Given the description of an element on the screen output the (x, y) to click on. 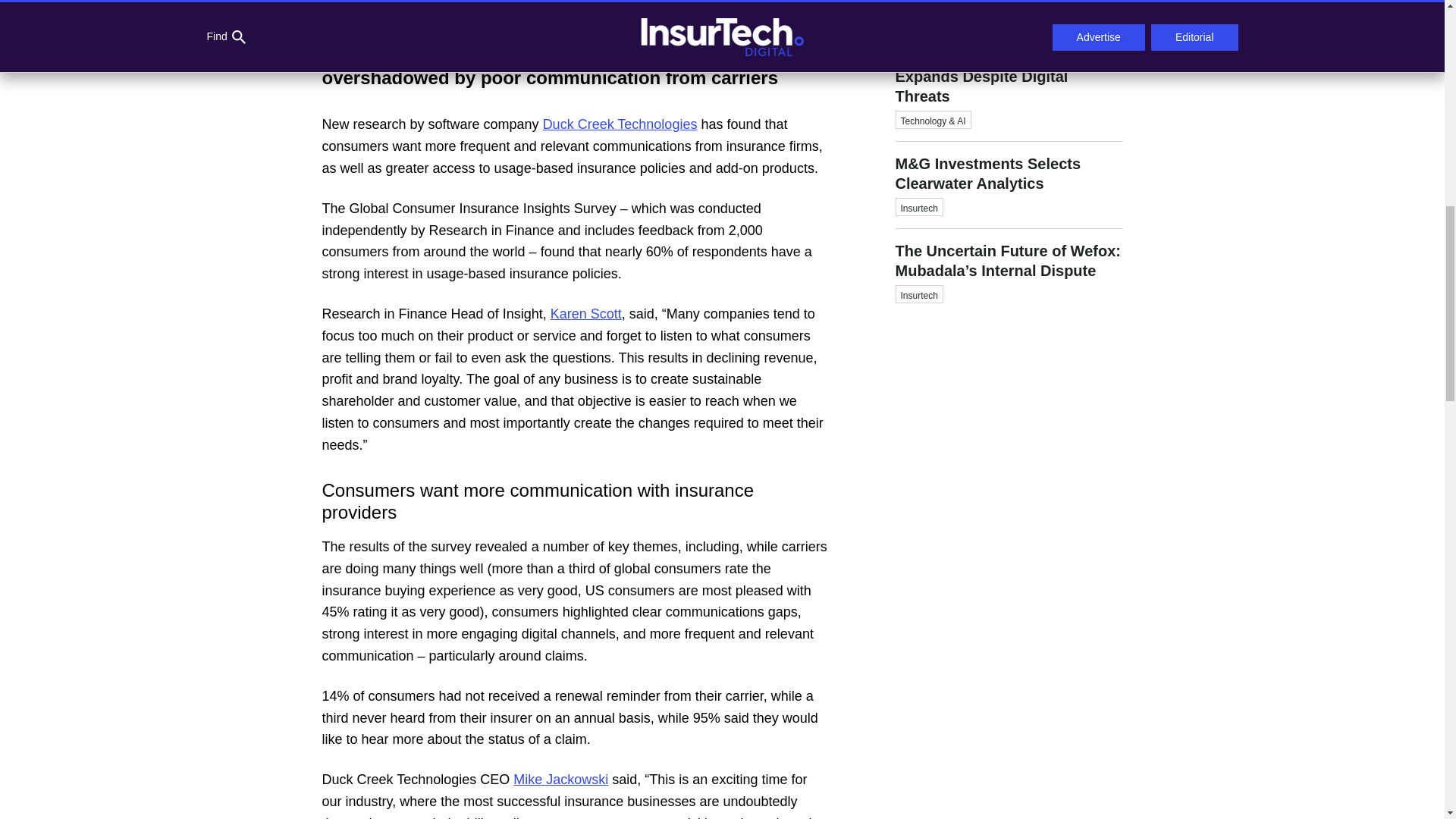
Duck Creek Technologies (620, 124)
Karen Scott (585, 313)
Mike Jackowski (560, 779)
